Given the description of an element on the screen output the (x, y) to click on. 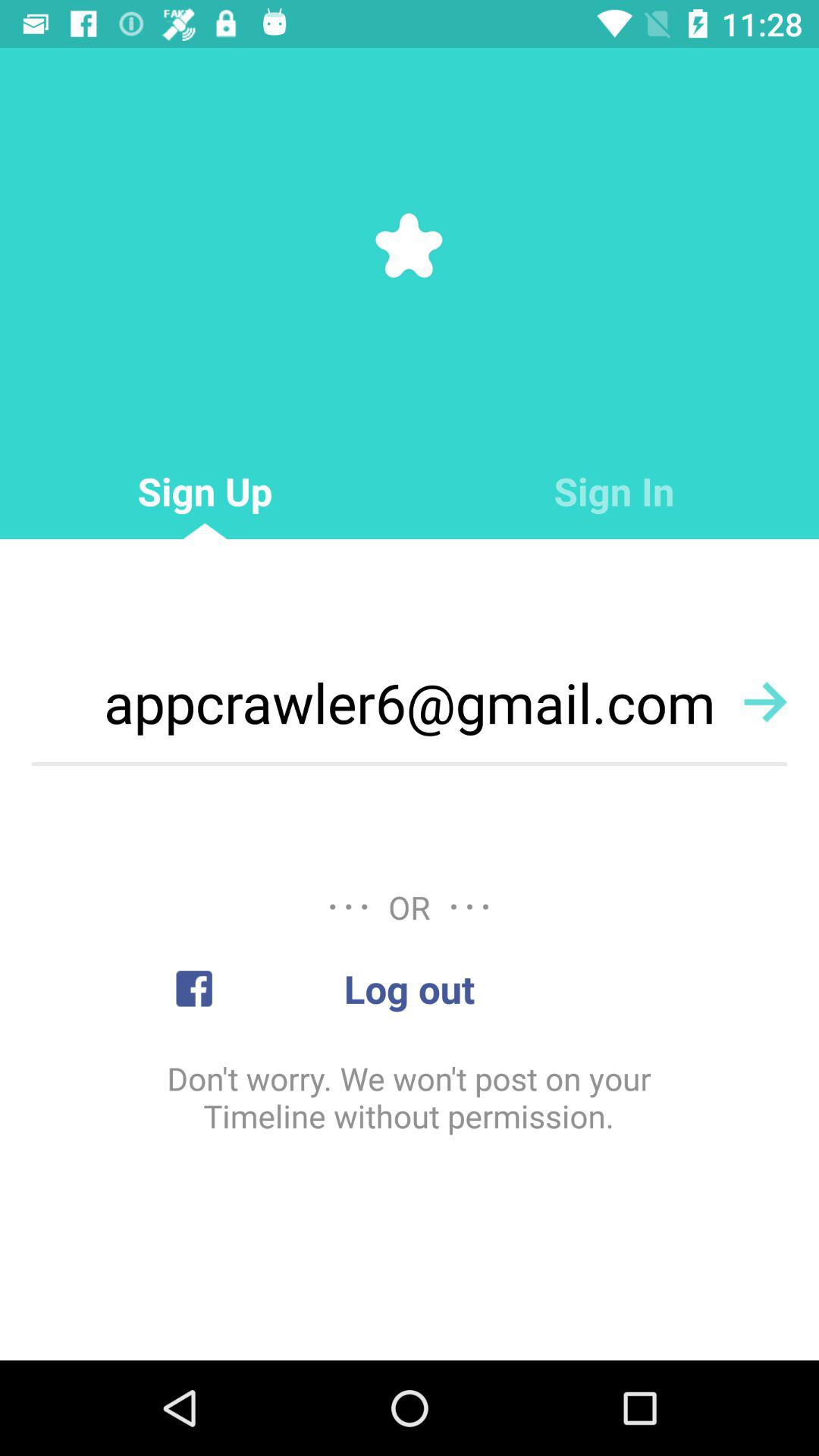
scroll until appcrawler6@gmail.com (409, 702)
